Given the description of an element on the screen output the (x, y) to click on. 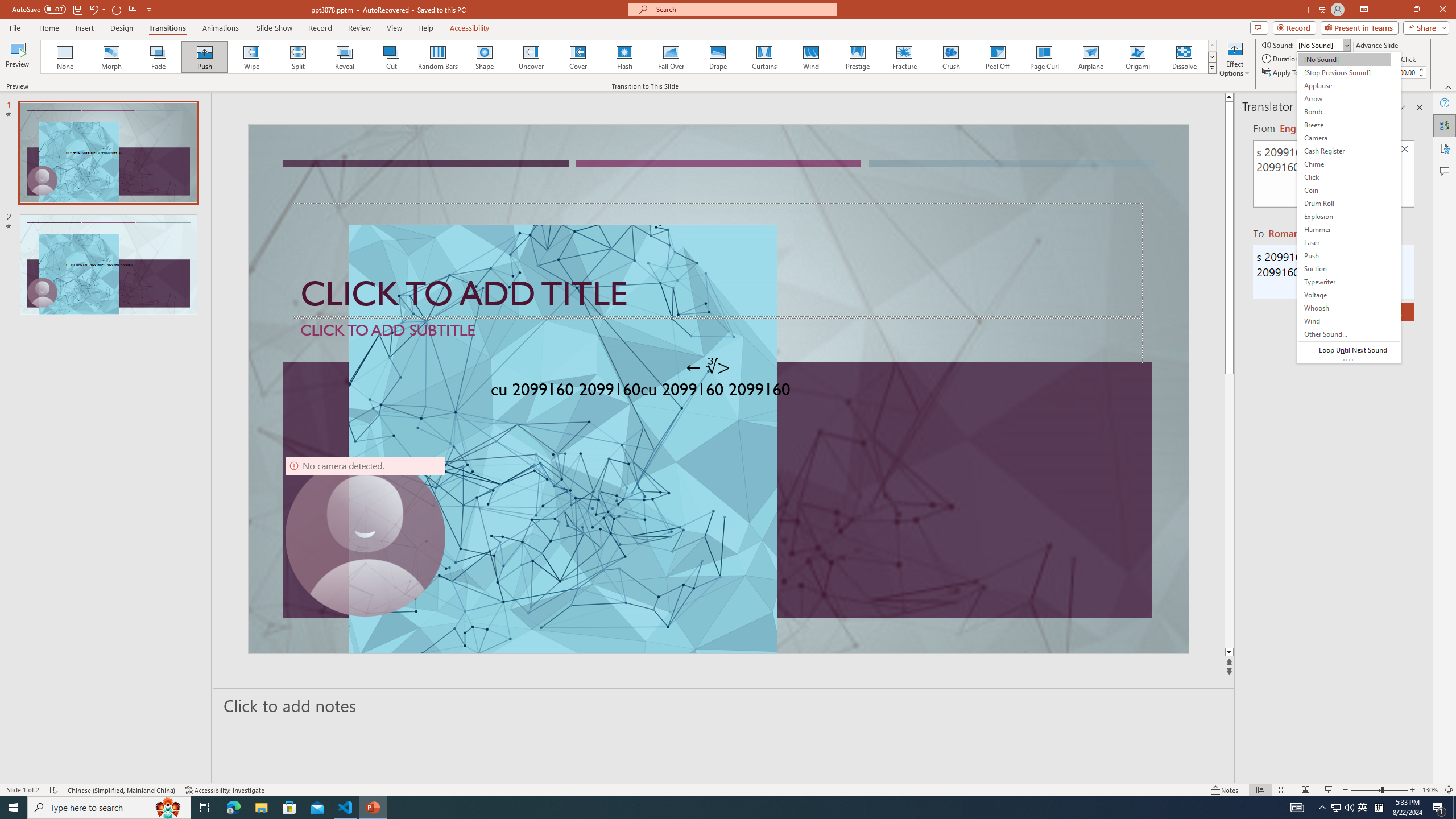
None (65, 56)
Cover (577, 56)
Transition Effects (1212, 67)
Split (298, 56)
Airplane (1090, 56)
Effect Options (1234, 58)
Fade (158, 56)
